Given the description of an element on the screen output the (x, y) to click on. 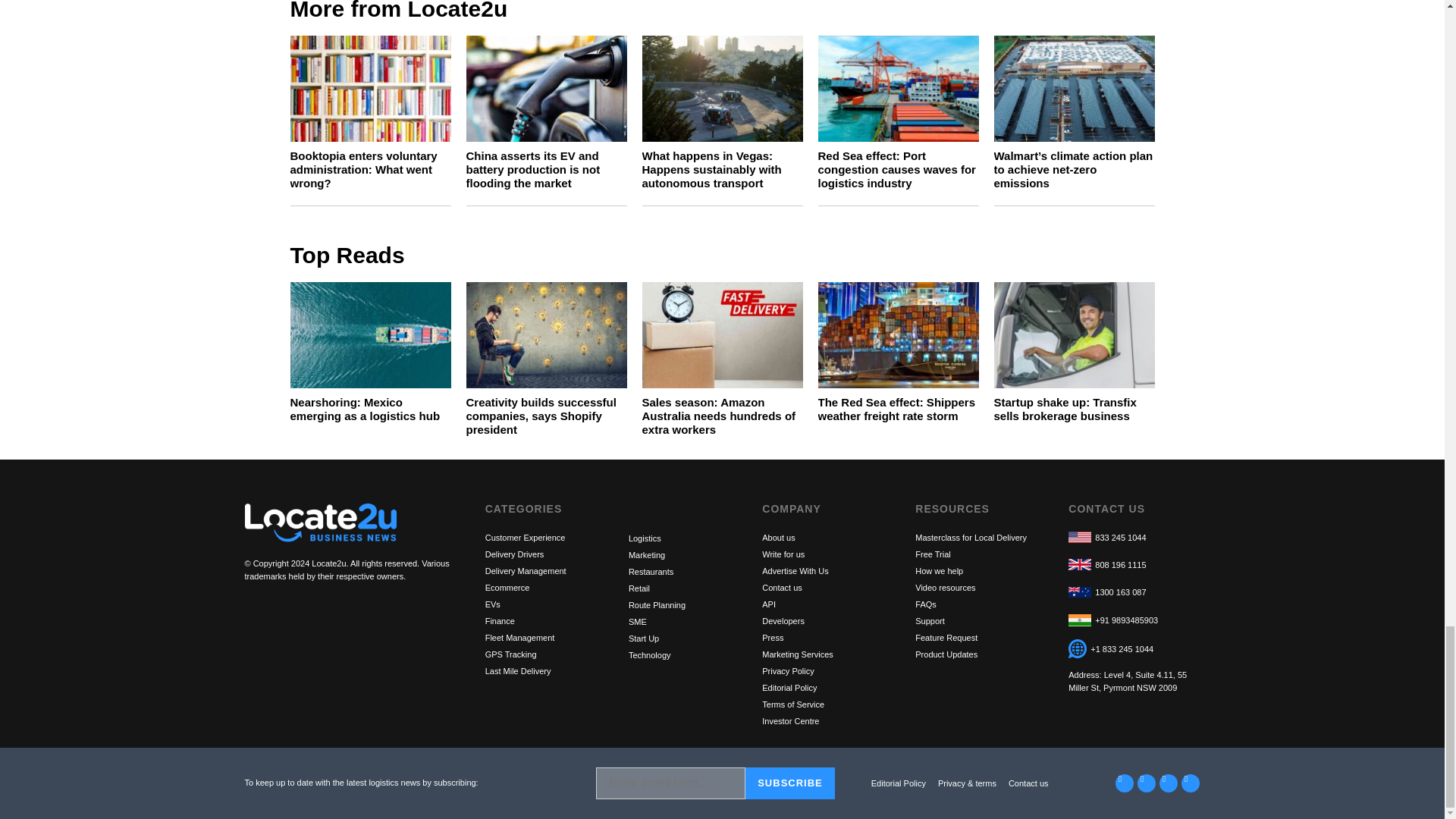
Subscribe (789, 783)
